Given the description of an element on the screen output the (x, y) to click on. 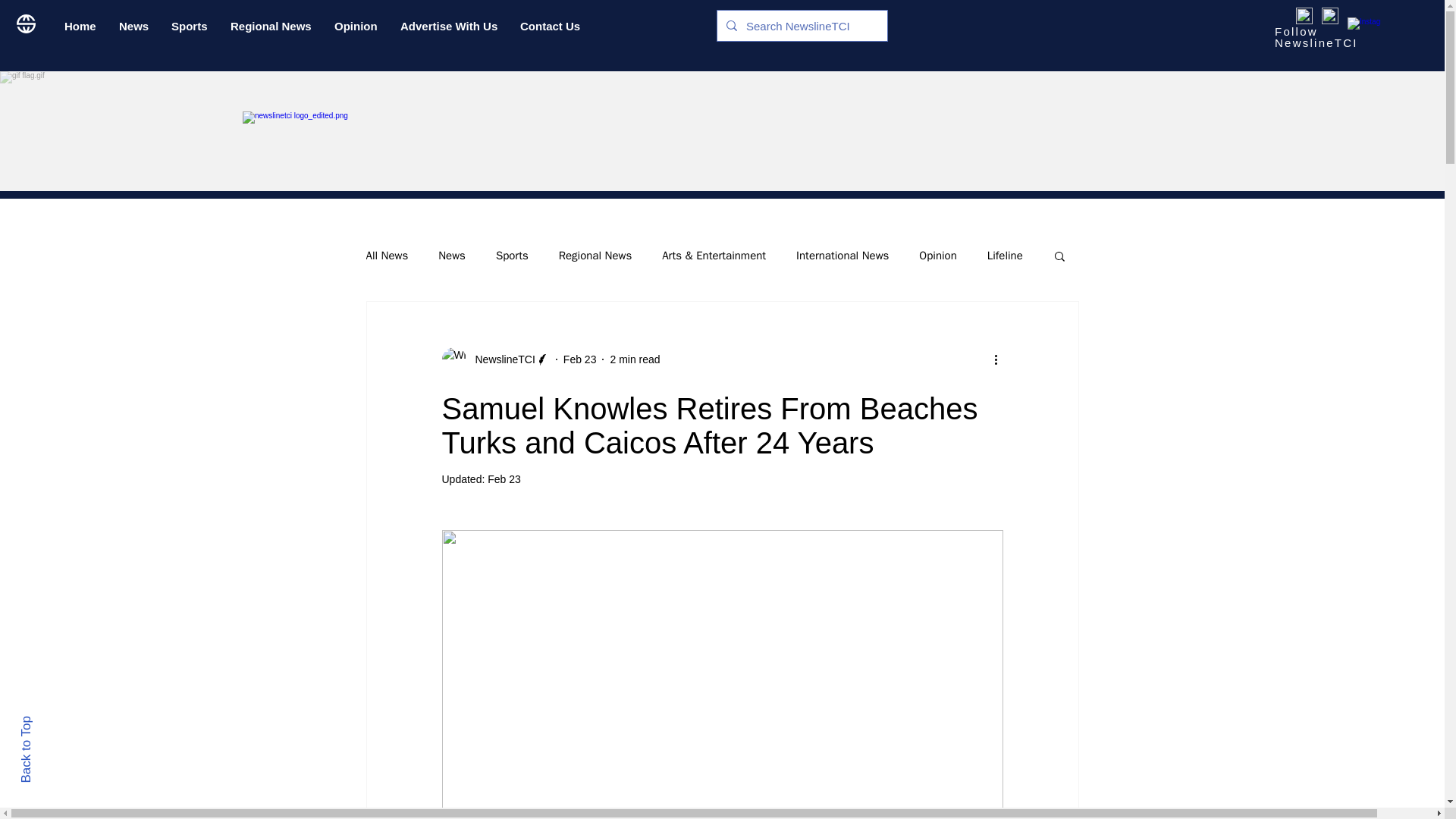
Feb 23 (579, 358)
Advertise With Us (448, 26)
Lifeline (1005, 255)
News (451, 255)
International News (842, 255)
Contact Us (549, 26)
Sports (512, 255)
Sports (189, 26)
2 min read (634, 358)
Regional News (271, 26)
